Given the description of an element on the screen output the (x, y) to click on. 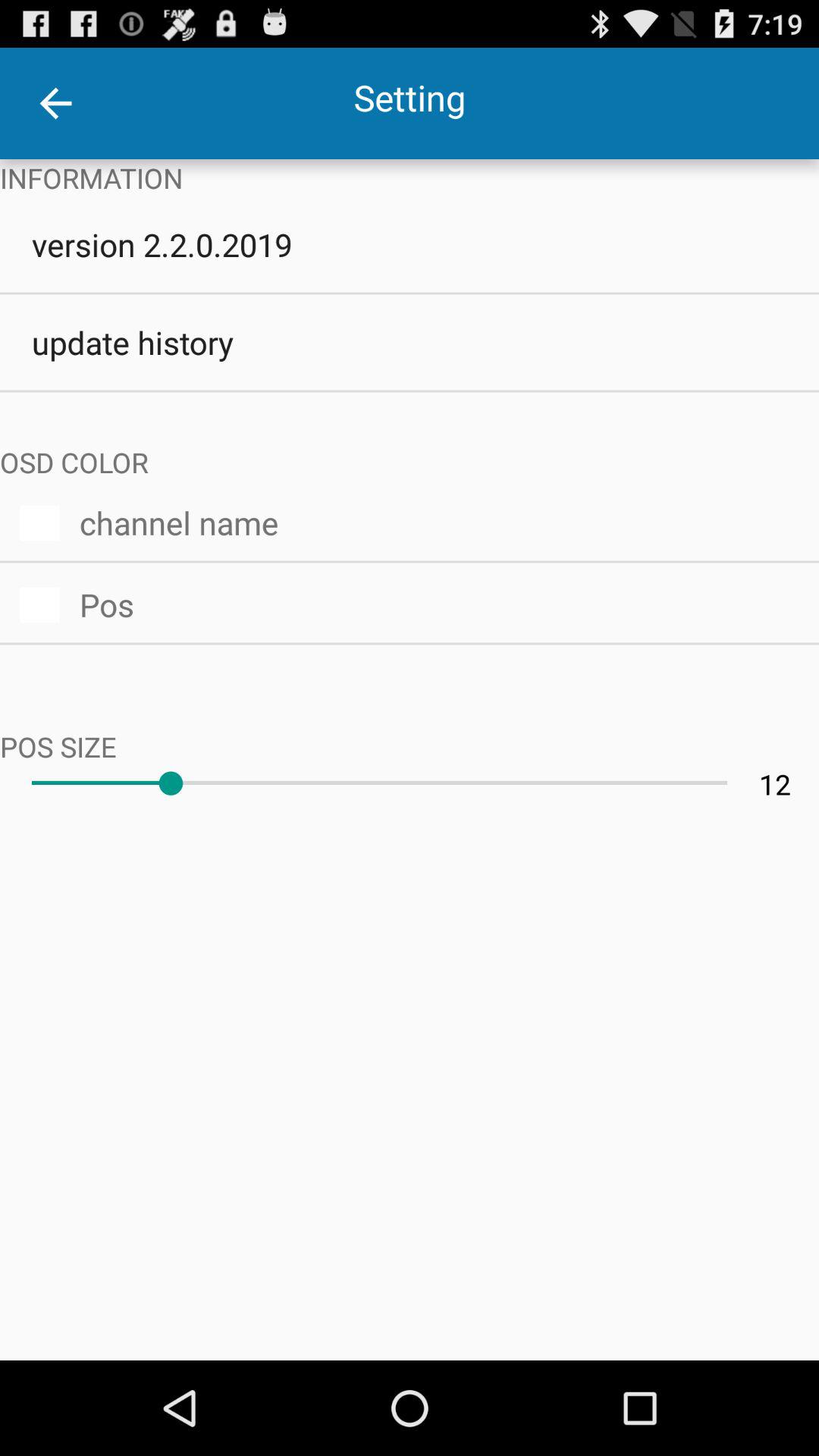
launch the version 2 2 item (409, 244)
